Given the description of an element on the screen output the (x, y) to click on. 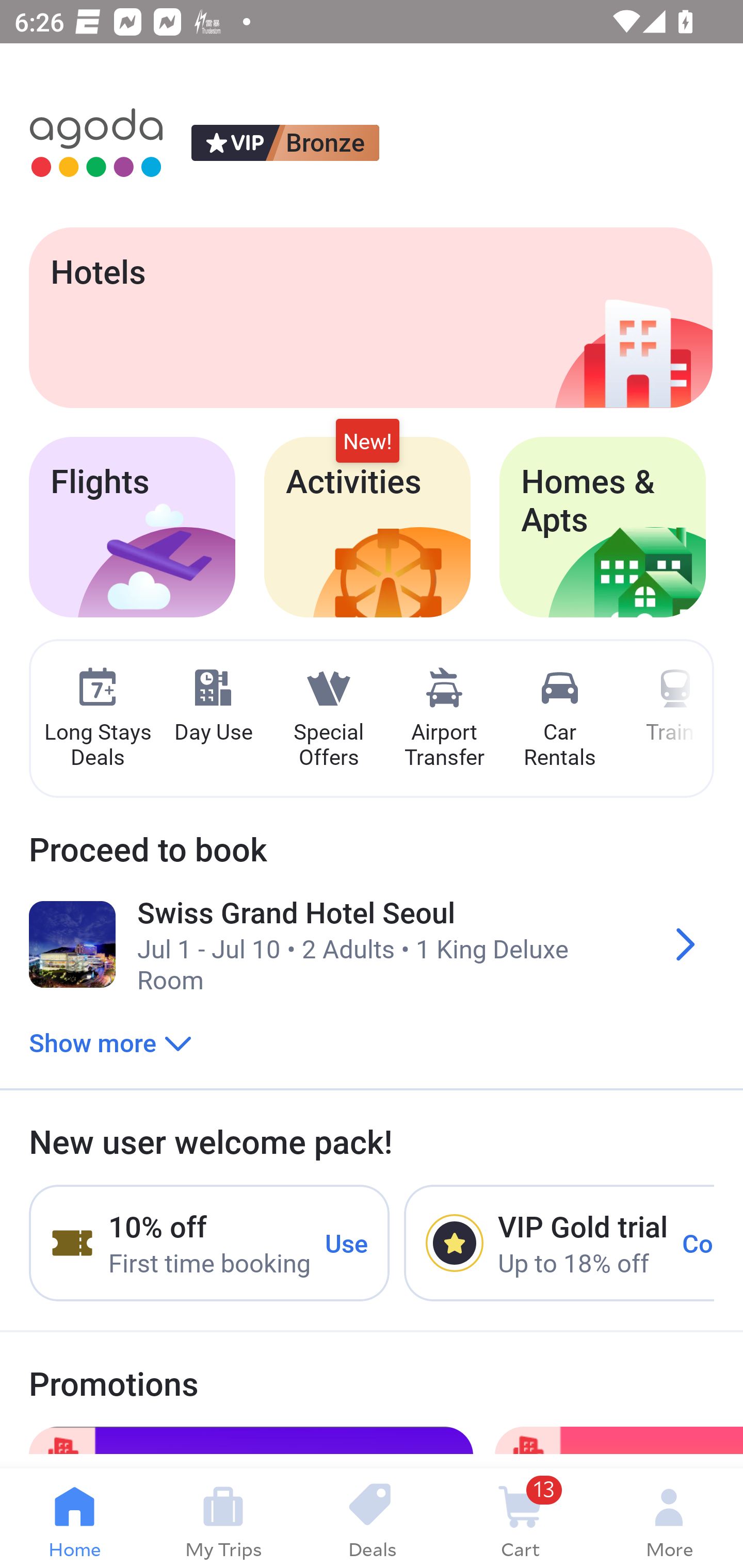
Hotels (370, 317)
New! (367, 441)
Flights (131, 527)
Activities (367, 527)
Homes & Apts (602, 527)
Day Use (213, 706)
Long Stays Deals (97, 718)
Special Offers (328, 718)
Airport Transfer (444, 718)
Car Rentals (559, 718)
Show more (110, 1041)
Use (346, 1242)
Home (74, 1518)
My Trips (222, 1518)
Deals (371, 1518)
13 Cart (519, 1518)
More (668, 1518)
